Given the description of an element on the screen output the (x, y) to click on. 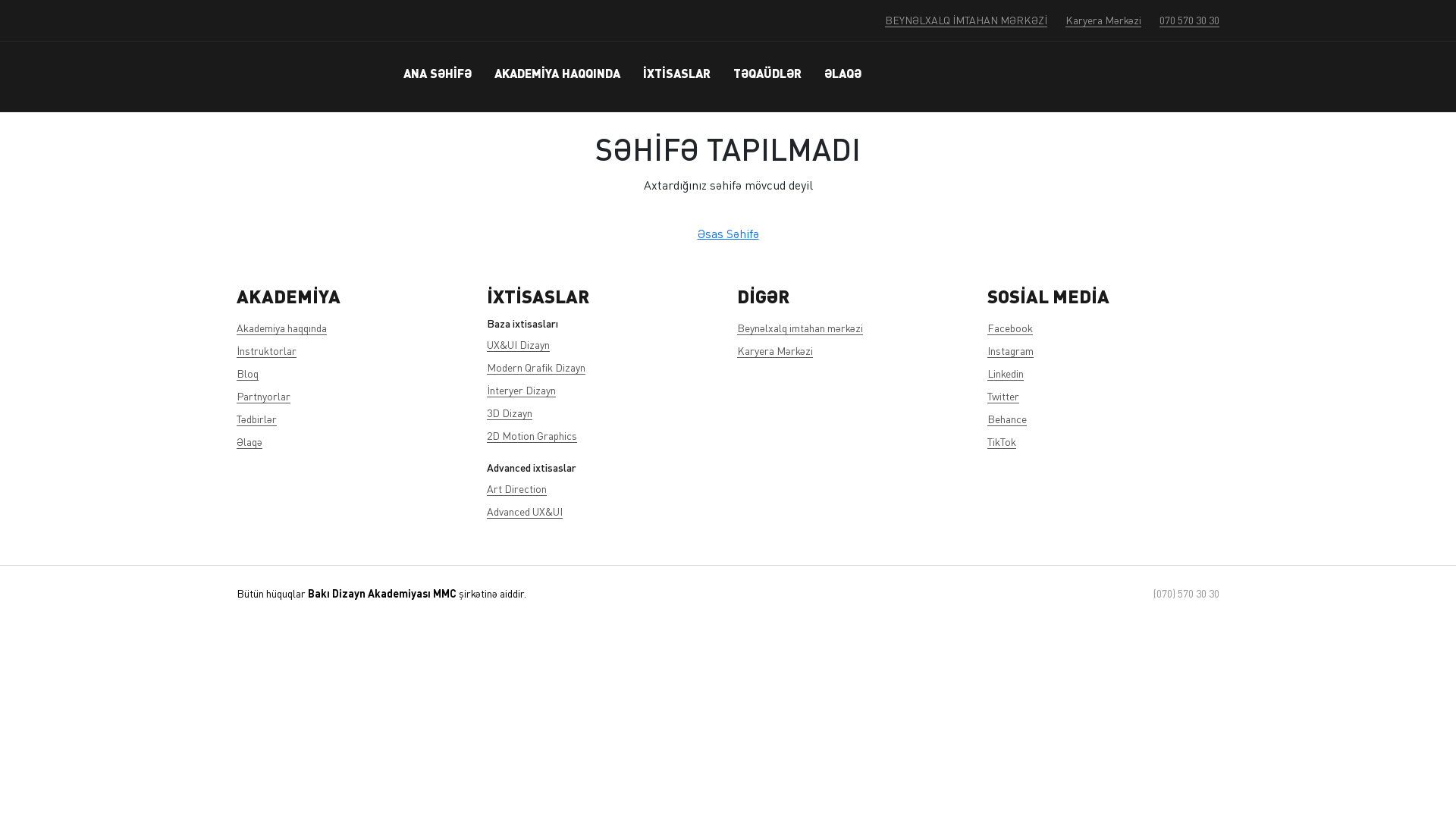
Linkedin Element type: text (1005, 373)
TikTok Element type: text (1001, 441)
2D Motion Graphics Element type: text (531, 435)
Bloq Element type: text (247, 373)
3D Dizayn Element type: text (509, 412)
Twitter Element type: text (1003, 395)
070 570 30 30 Element type: text (1189, 19)
Partnyorlar Element type: text (263, 395)
Art Direction Element type: text (516, 488)
Advanced UX&UI Element type: text (524, 511)
AKADEMIYA HAQQINDA Element type: text (557, 72)
UX&UI Dizayn Element type: text (517, 344)
Instagram Element type: text (1010, 350)
Modern Qrafik Dizayn Element type: text (535, 366)
Facebook Element type: text (1009, 327)
Behance Element type: text (1006, 418)
